Given the description of an element on the screen output the (x, y) to click on. 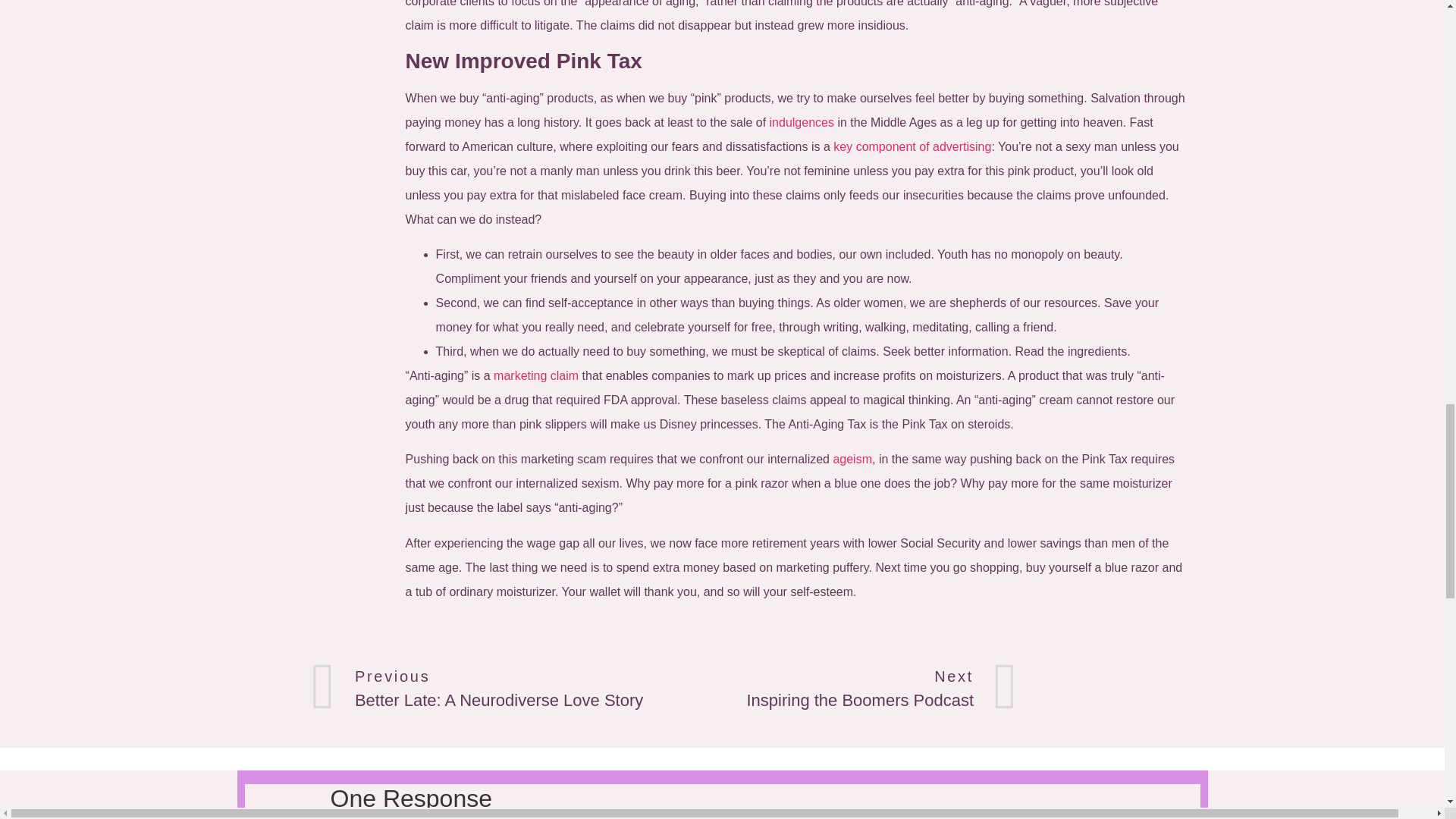
indulgences (802, 122)
key component of advertising (911, 146)
ageism (487, 688)
marketing claim (852, 459)
